Given the description of an element on the screen output the (x, y) to click on. 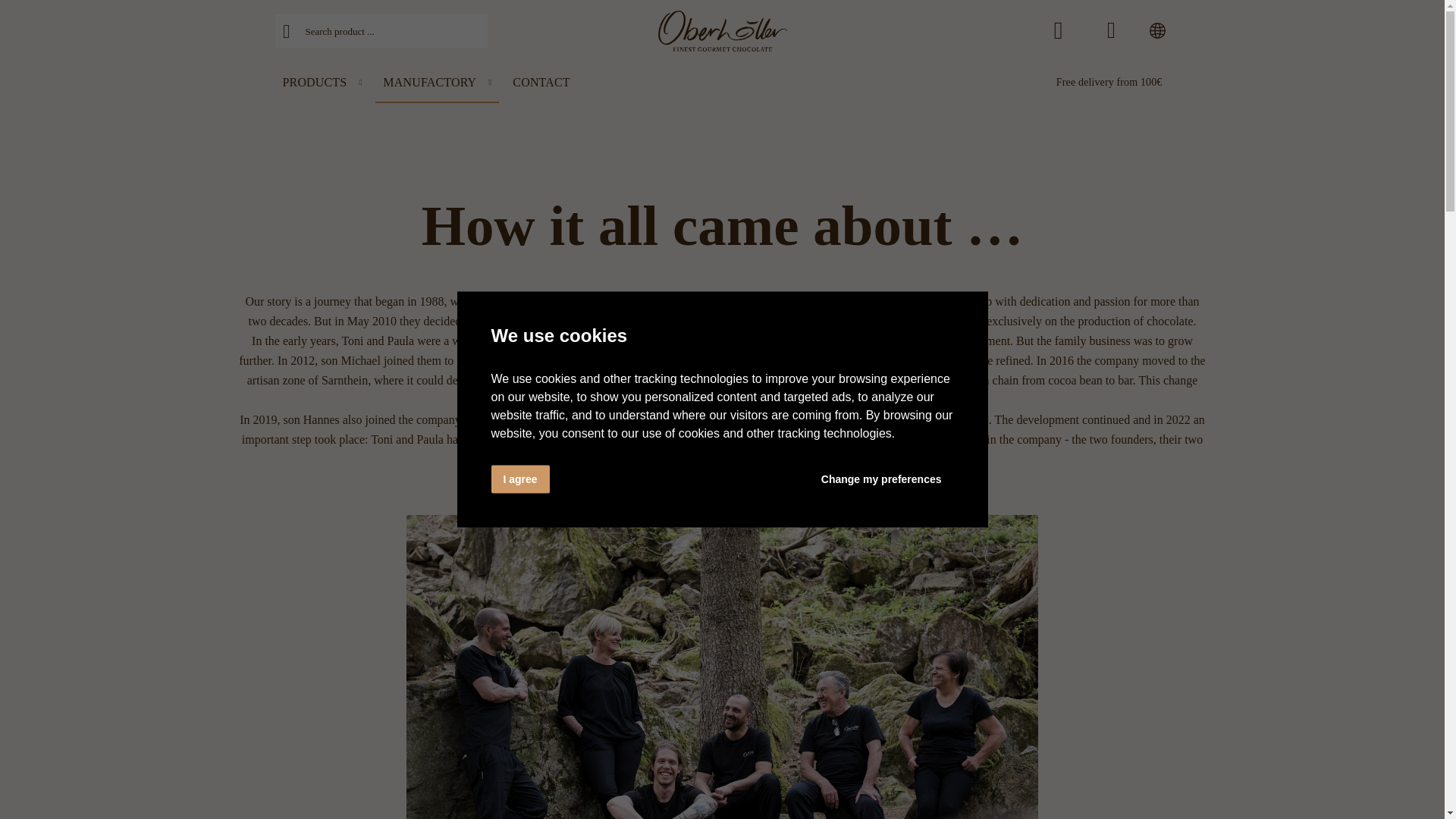
Change my preferences (881, 479)
I agree (521, 479)
Account (1110, 30)
PRODUCTS (322, 83)
MANUFACTORY (437, 83)
